Given the description of an element on the screen output the (x, y) to click on. 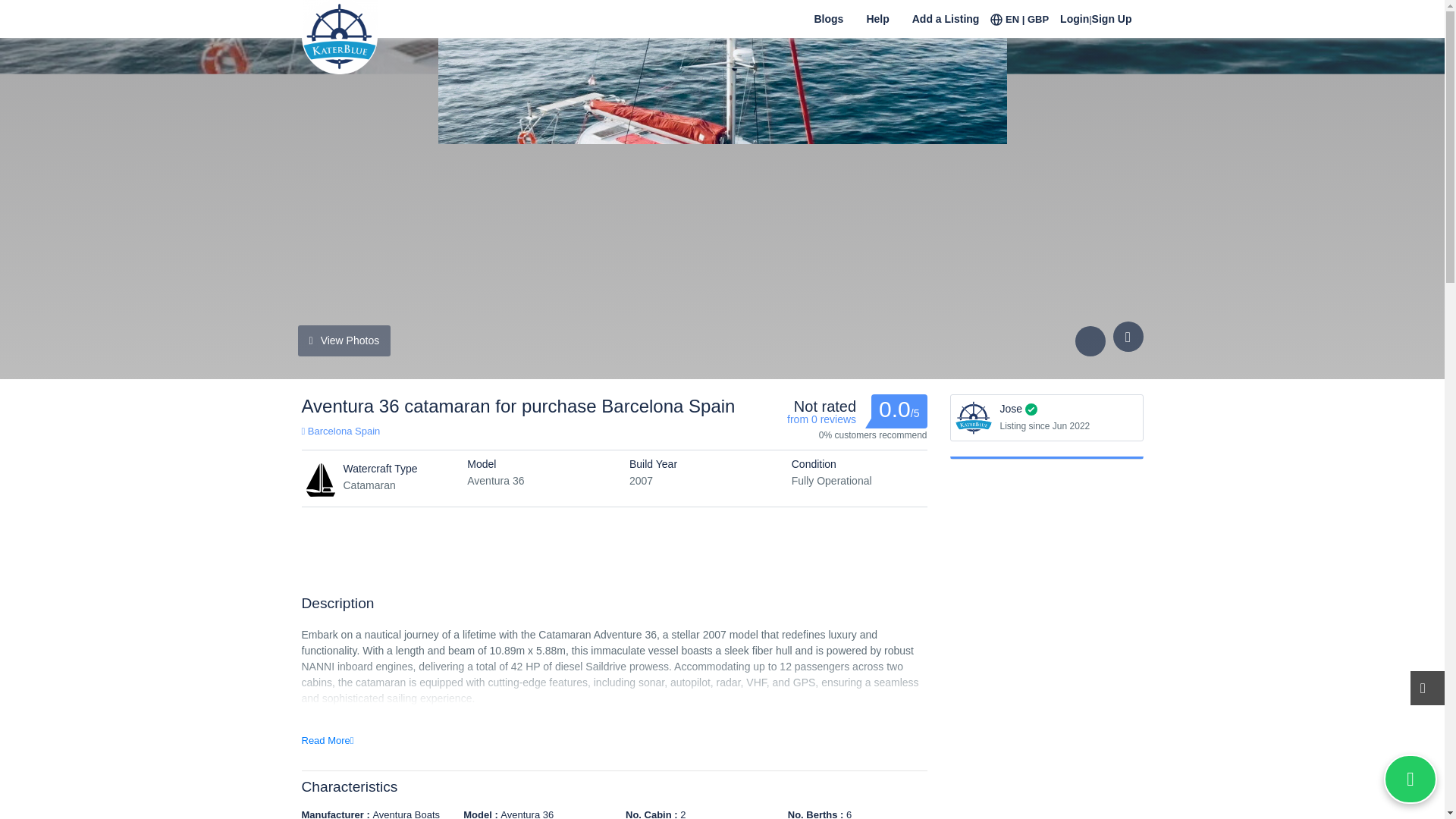
View Photos (343, 340)
Add a Listing (946, 27)
Verified (1030, 409)
Share (1094, 340)
Sign Up (1117, 27)
Save (1127, 336)
Blogs (828, 27)
